Given the description of an element on the screen output the (x, y) to click on. 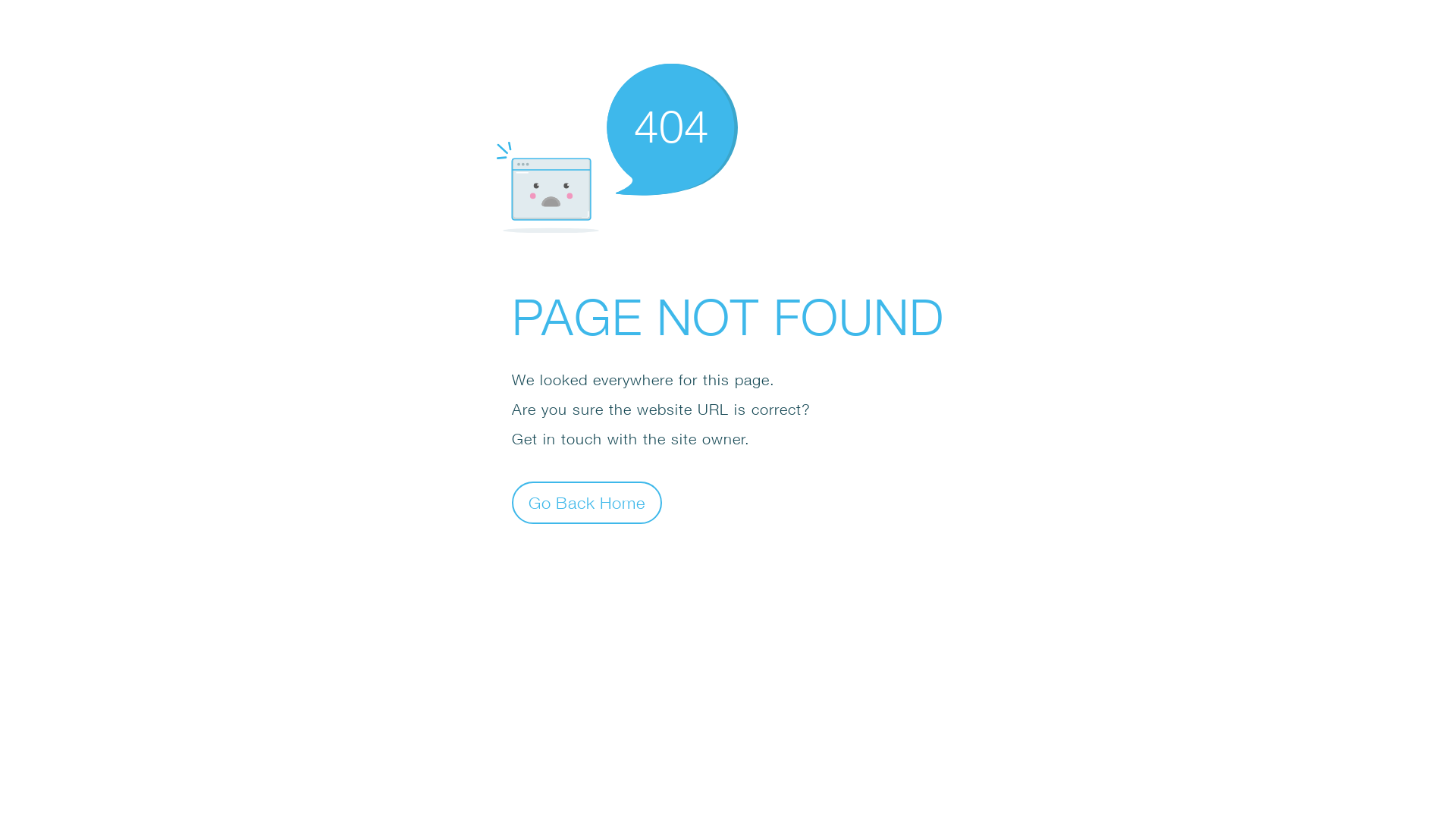
Go Back Home Element type: text (586, 502)
